Given the description of an element on the screen output the (x, y) to click on. 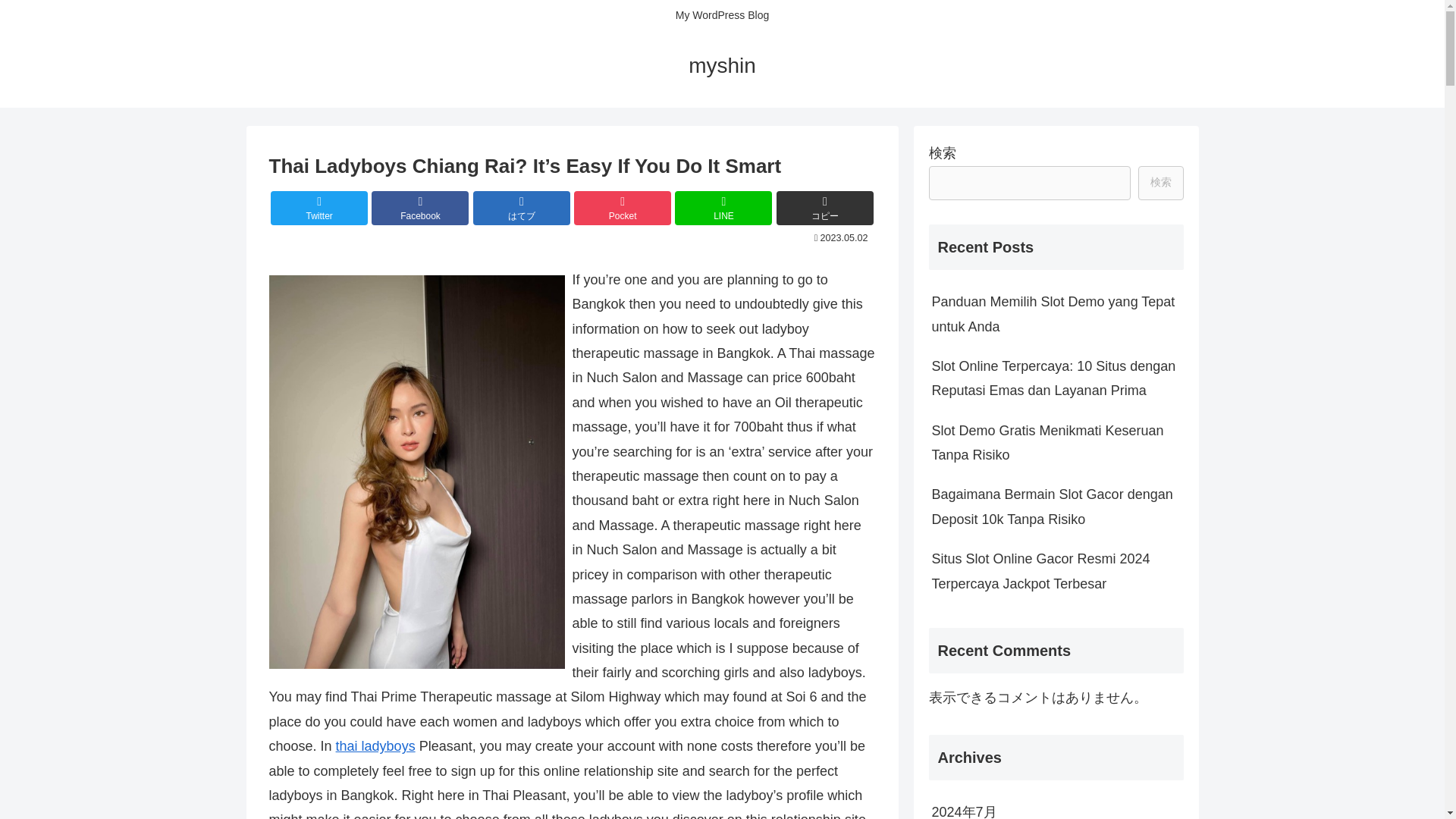
Panduan Memilih Slot Demo yang Tepat untuk Anda (1055, 313)
thai ladyboys (375, 745)
Slot Demo Gratis Menikmati Keseruan Tanpa Risiko (1055, 443)
LINE (723, 207)
Facebook (419, 207)
myshin (721, 68)
Pocket (622, 207)
Twitter (319, 207)
